Given the description of an element on the screen output the (x, y) to click on. 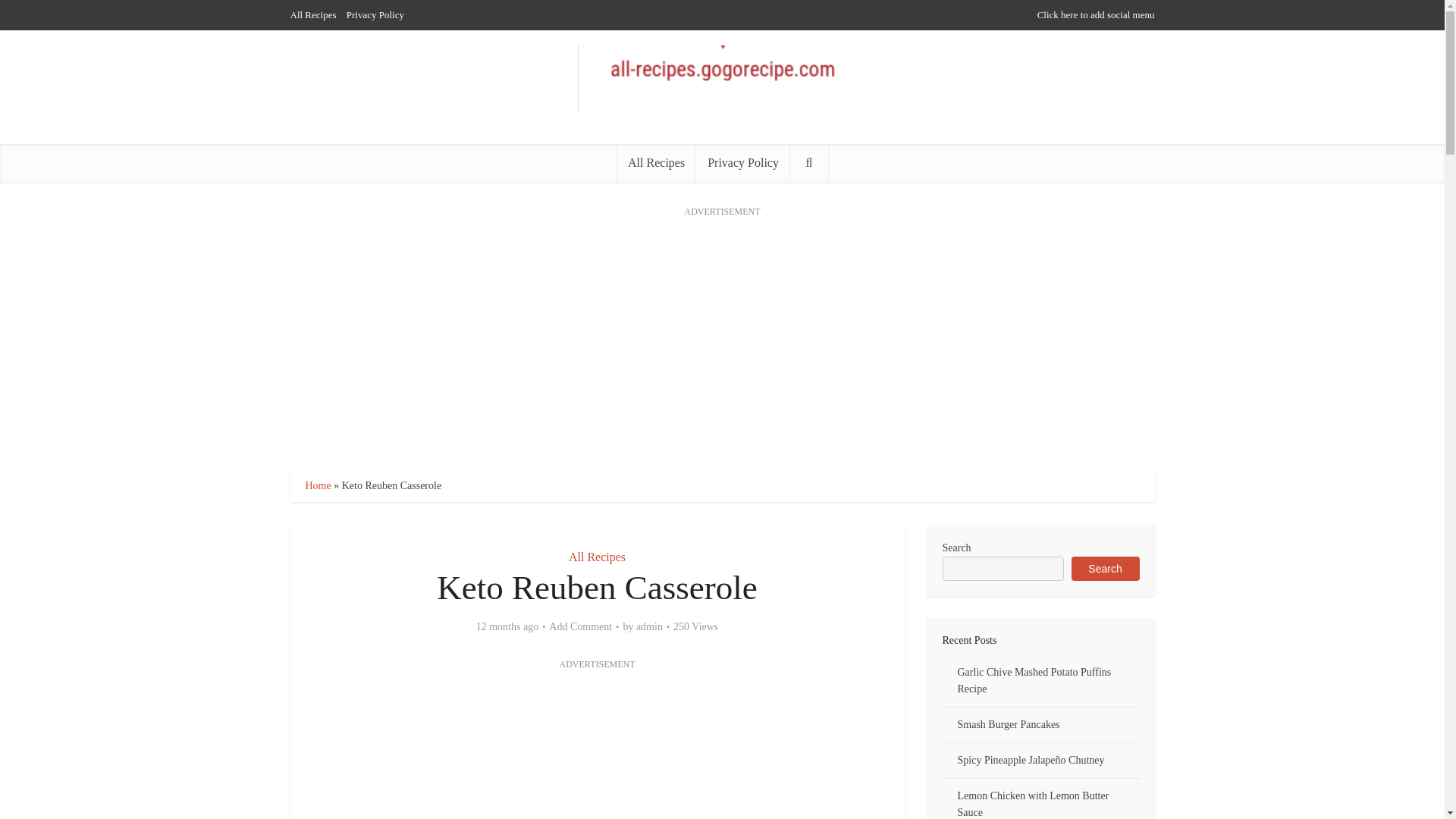
All Recipes (597, 556)
Privacy Policy (375, 14)
Privacy Policy (742, 162)
Home (317, 485)
All Recipes (655, 162)
Click here to add social menu (1095, 14)
All Recipes (312, 14)
admin (649, 626)
Add Comment (579, 626)
